Given the description of an element on the screen output the (x, y) to click on. 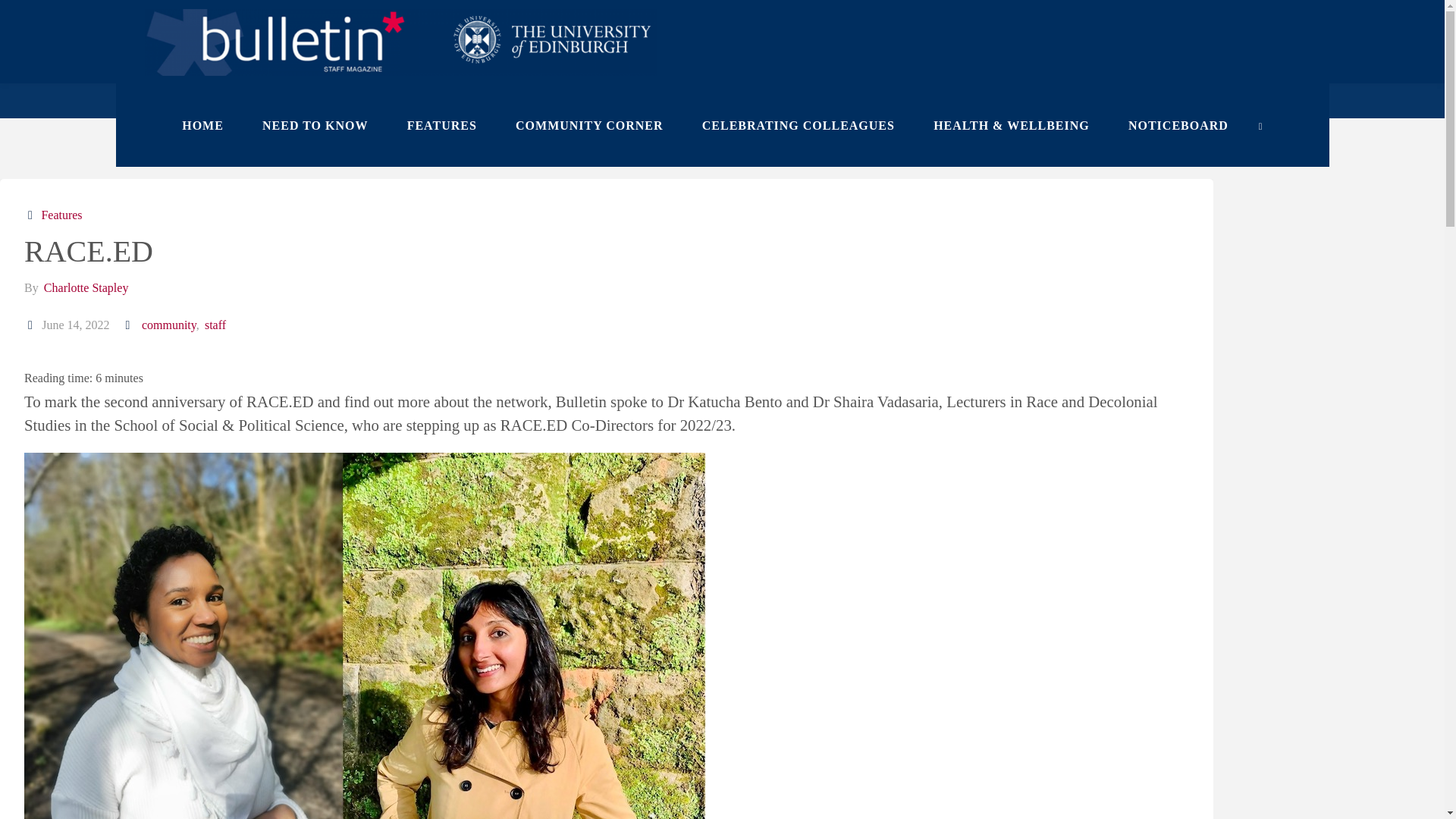
View all posts by Charlotte Stapley (85, 287)
Categories (31, 214)
Tagged (129, 324)
HOME (203, 125)
Features (60, 214)
Bulletin (401, 41)
Features (226, 100)
FEATURES (441, 125)
Charlotte Stapley (85, 287)
NOTICEBOARD (1177, 125)
BULLETIN (712, 53)
COMMUNITY CORNER (589, 125)
Staff magazine (712, 53)
CELEBRATING COLLEAGUES (798, 125)
NEED TO KNOW (315, 125)
